Given the description of an element on the screen output the (x, y) to click on. 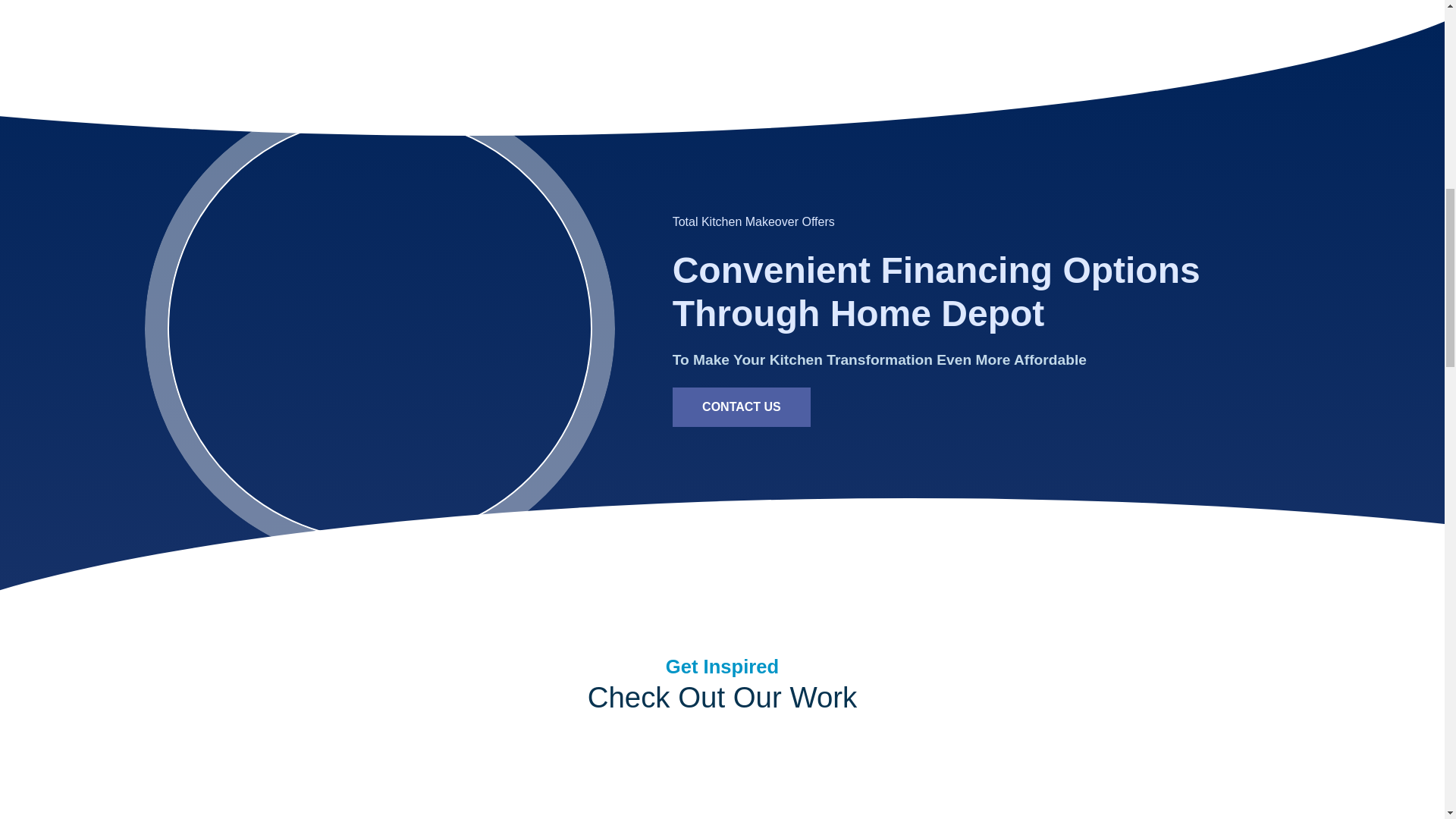
Gallery Image (573, 786)
Gallery Image (1020, 786)
CONTACT US (741, 406)
Gallery Image (273, 786)
